Given the description of an element on the screen output the (x, y) to click on. 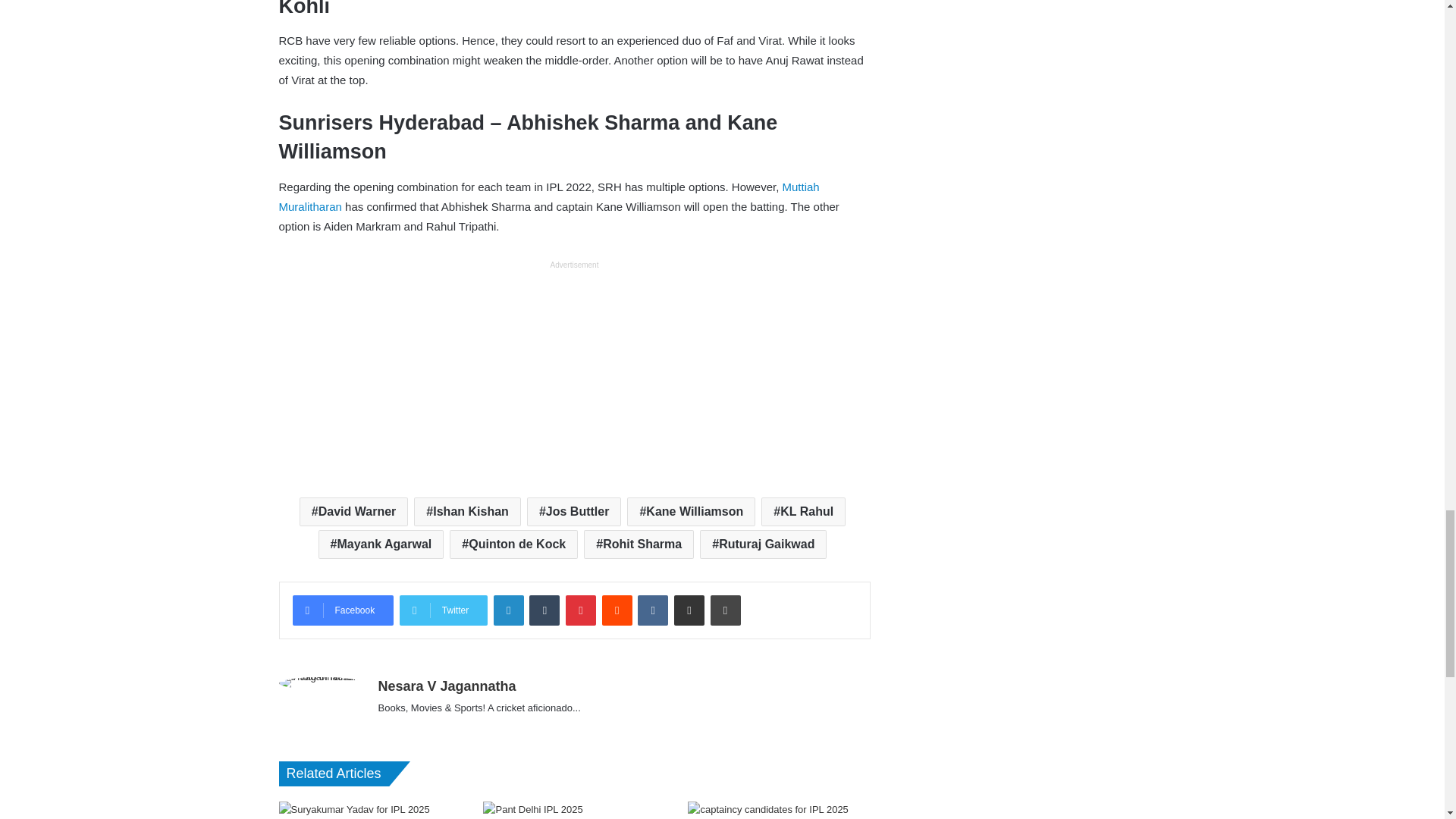
LinkedIn (508, 610)
Reddit (616, 610)
Share via Email (689, 610)
Tumblr (544, 610)
Pinterest (580, 610)
Twitter (442, 610)
Facebook (343, 610)
VKontakte (652, 610)
David Warner (353, 511)
Muttiah Muralitharan (549, 196)
